Given the description of an element on the screen output the (x, y) to click on. 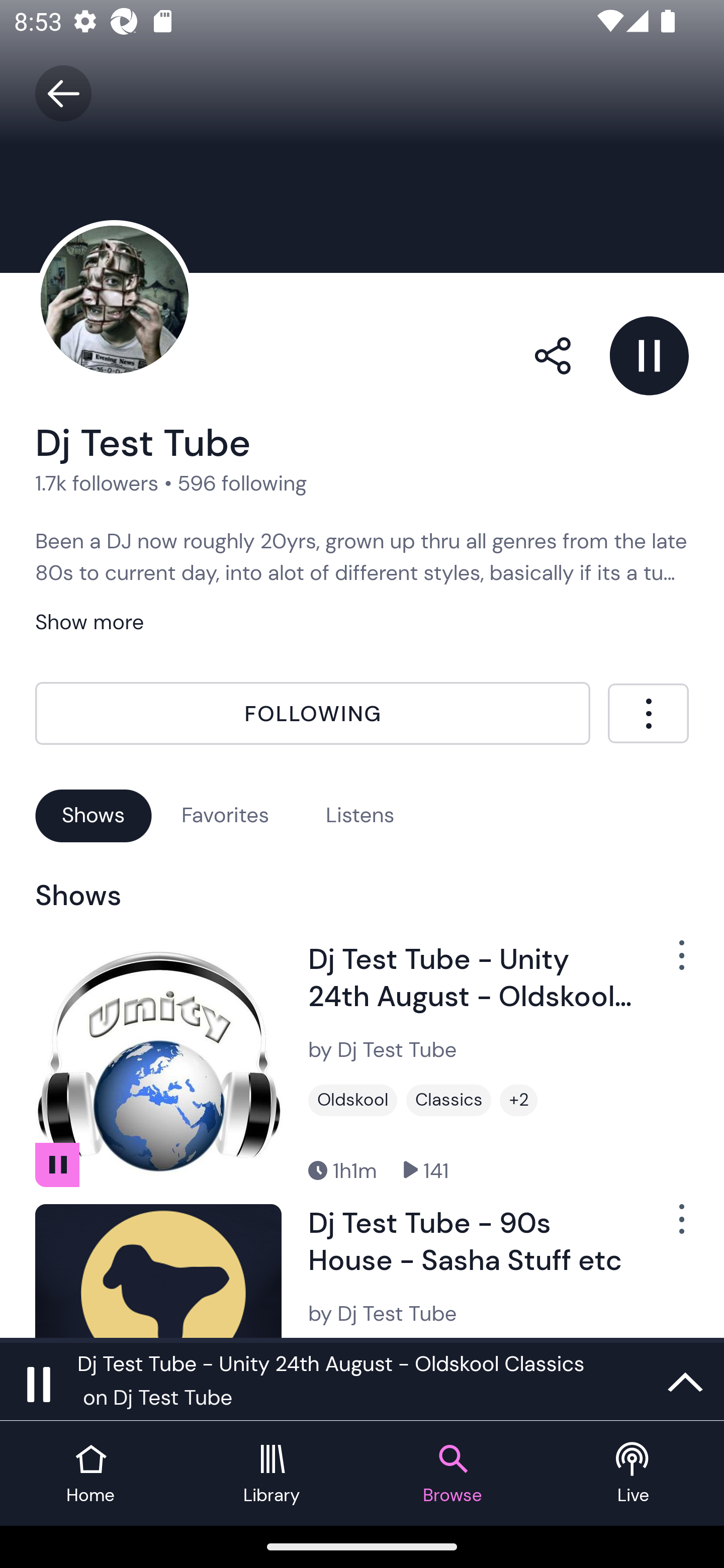
1.7k followers (96, 482)
596 following (241, 482)
Following FOLLOWING (312, 713)
More Menu (648, 713)
Shows (93, 815)
Favorites (225, 815)
Listens (359, 815)
Show Options Menu Button (670, 963)
Oldskool (352, 1100)
Classics (448, 1100)
Show Options Menu Button (670, 1226)
Home tab Home (90, 1473)
Library tab Library (271, 1473)
Browse tab Browse (452, 1473)
Live tab Live (633, 1473)
